Given the description of an element on the screen output the (x, y) to click on. 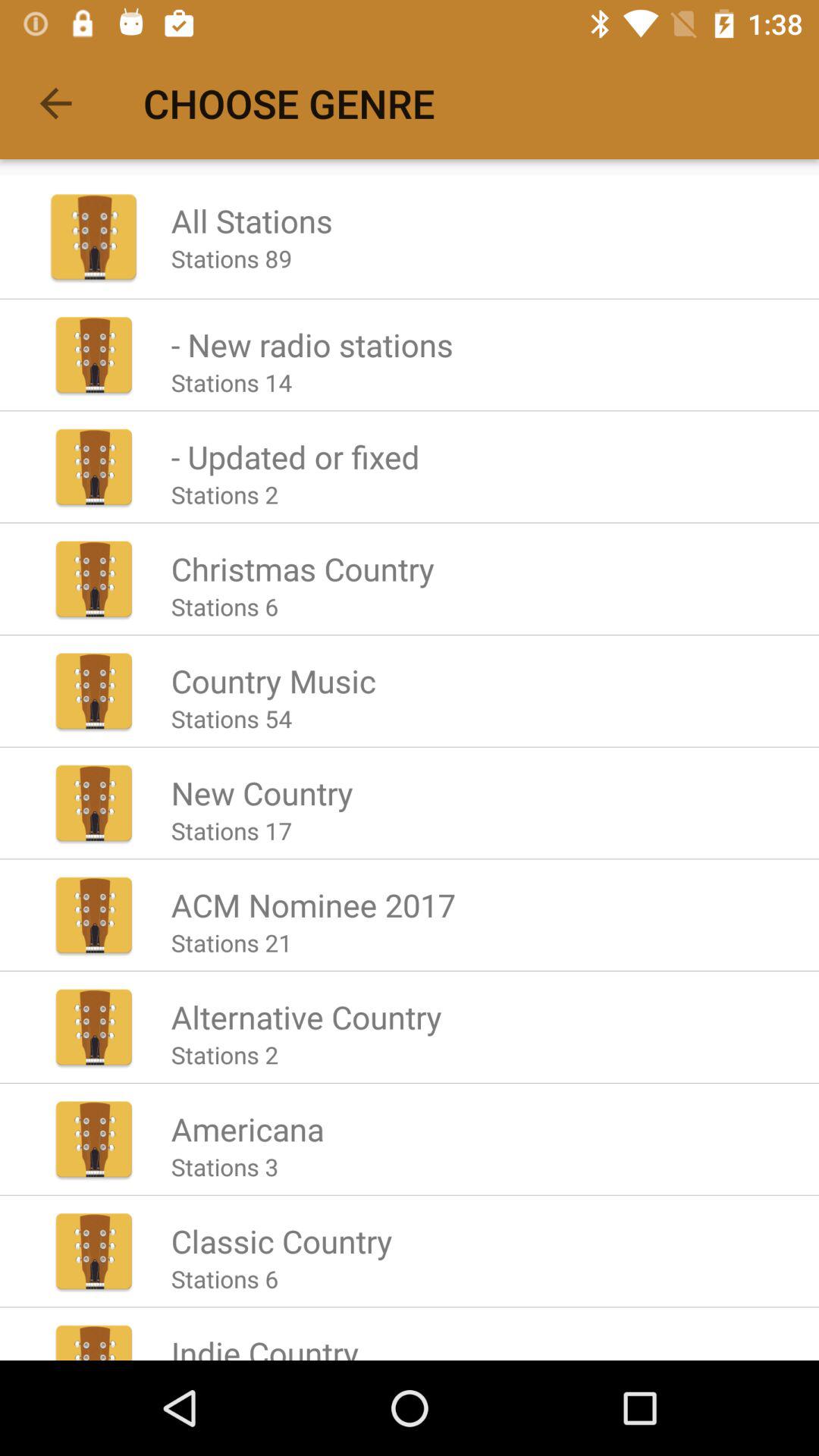
select the stations 54 icon (231, 718)
